Given the description of an element on the screen output the (x, y) to click on. 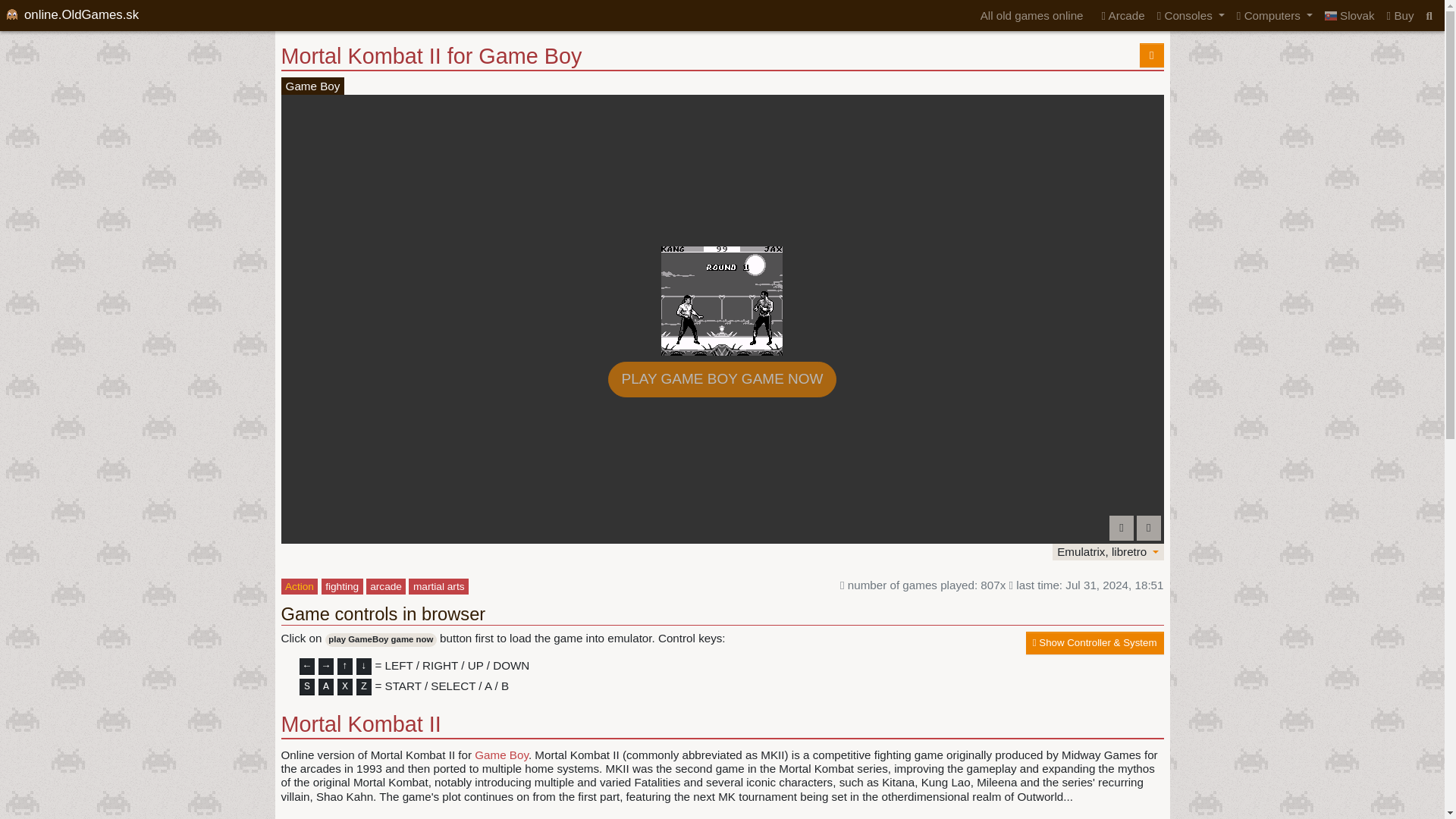
Buy old games in digital distribution (1400, 15)
Consoles (1190, 15)
FullScreen (1148, 527)
online.OldGames.sk (71, 15)
Buy (1400, 15)
Arcade (1120, 15)
Computers (1274, 15)
PLAY GAME BOY GAME NOW (721, 379)
Back to Game Boy Games (1151, 55)
Show Game Boy Controller (1094, 642)
